Given the description of an element on the screen output the (x, y) to click on. 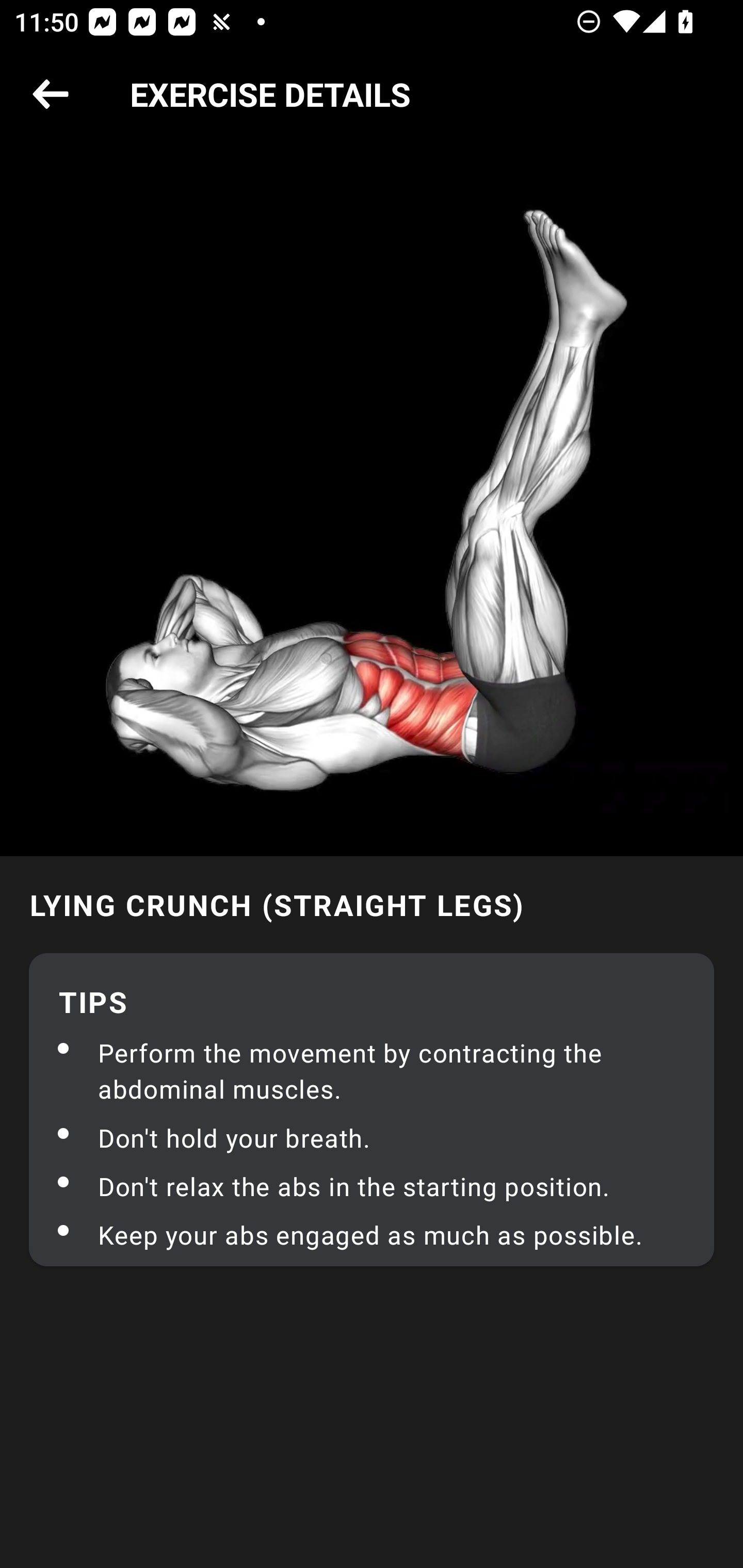
Back Icon (50, 94)
